Given the description of an element on the screen output the (x, y) to click on. 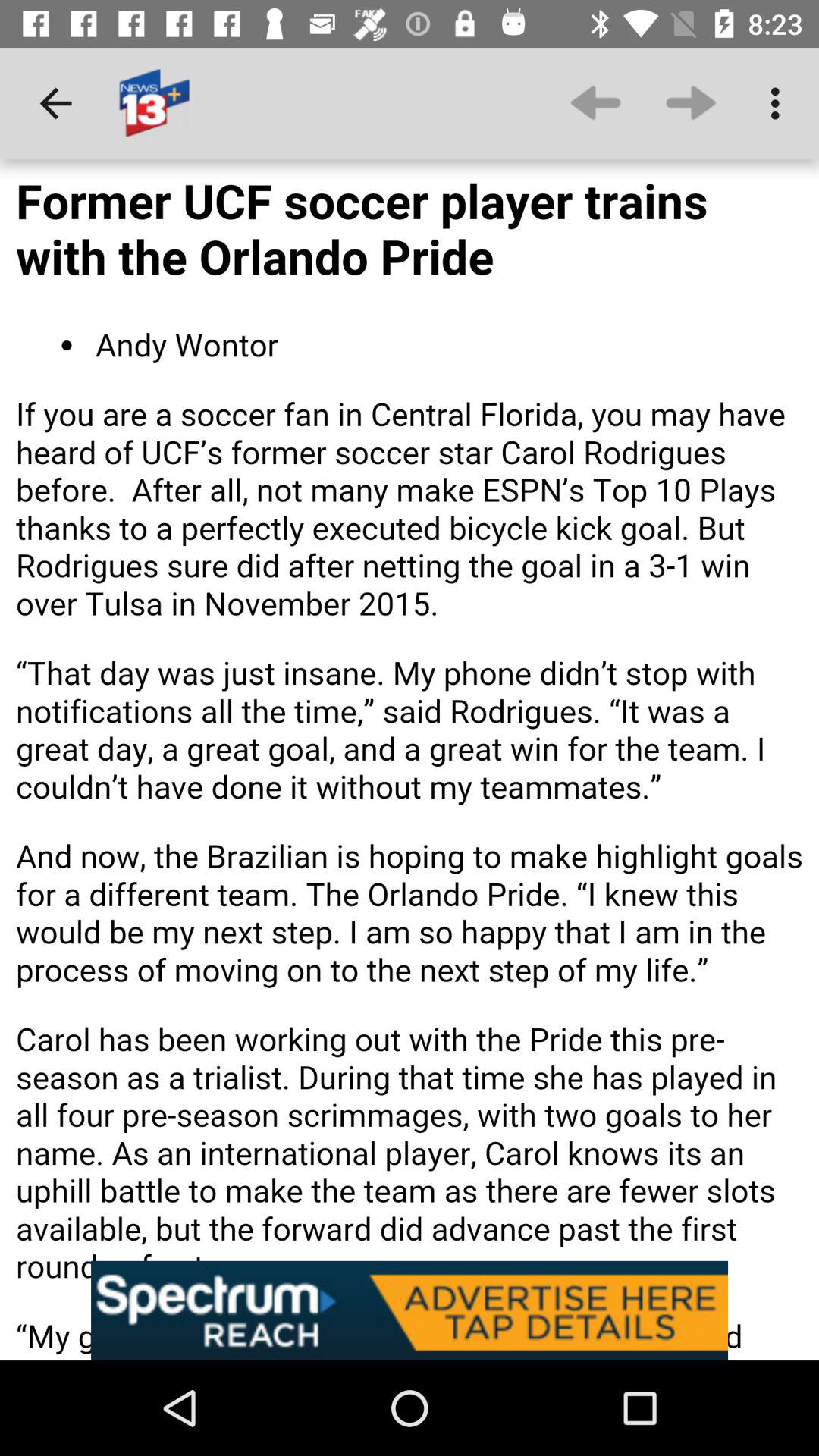
go to advertising site (409, 1310)
